Given the description of an element on the screen output the (x, y) to click on. 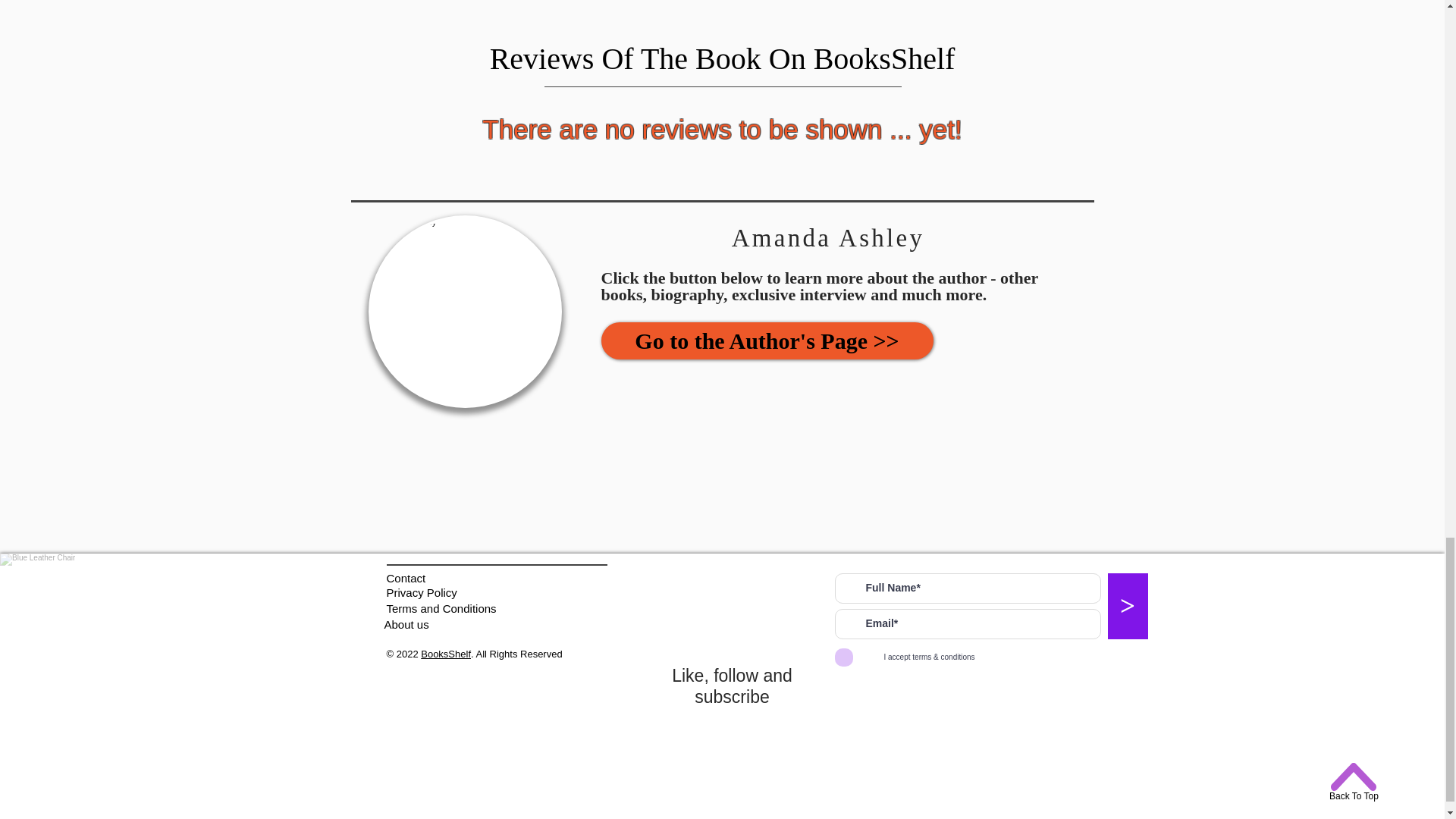
Amanda Ashley (465, 311)
